Given the description of an element on the screen output the (x, y) to click on. 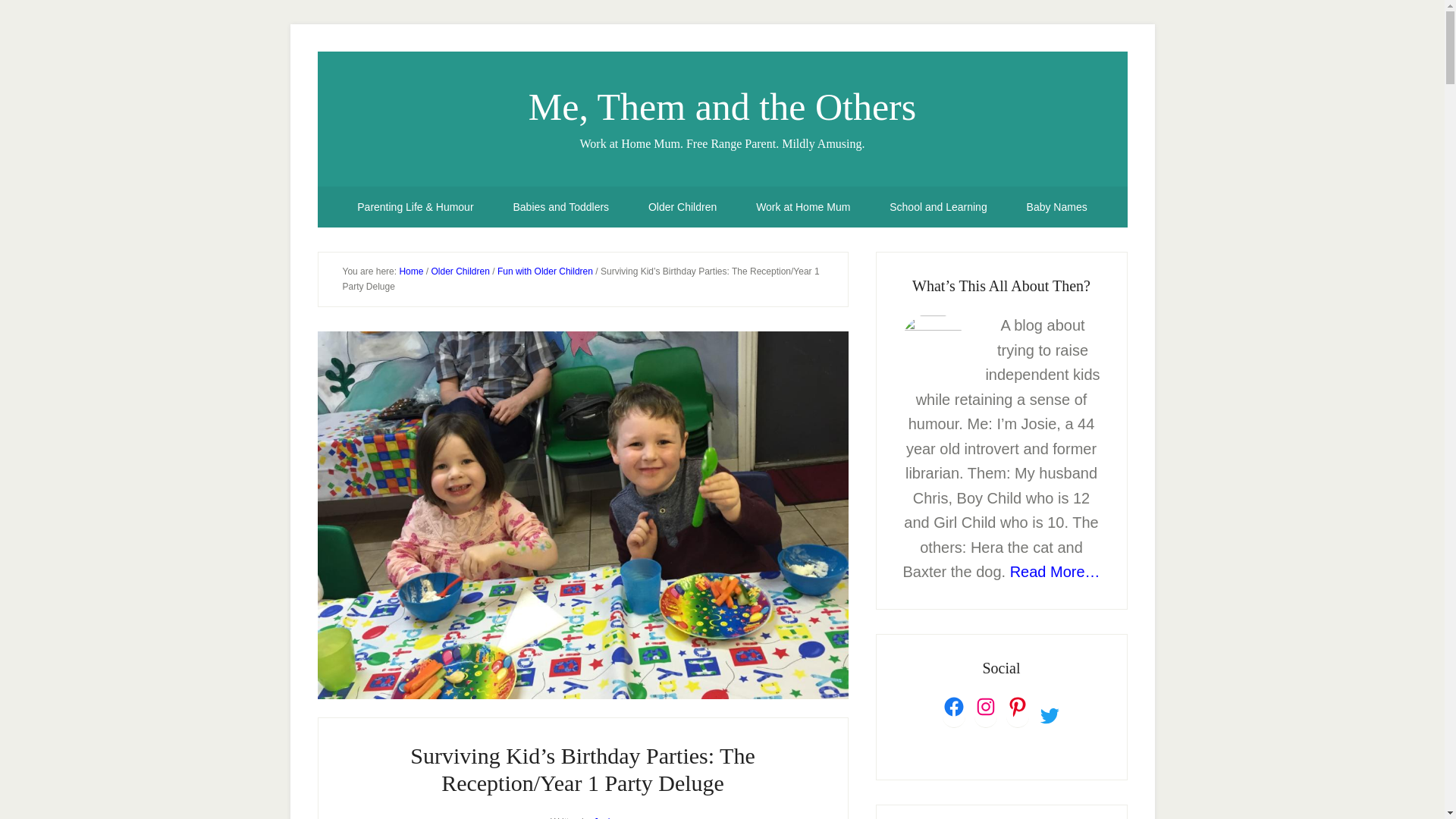
Work at Home Mum (802, 206)
Baby Names (1057, 206)
Babies and Toddlers (561, 206)
Josie (604, 817)
Older Children (459, 271)
School and Learning (937, 206)
Me, Them and the Others (721, 106)
Home (410, 271)
Older Children (682, 206)
